Given the description of an element on the screen output the (x, y) to click on. 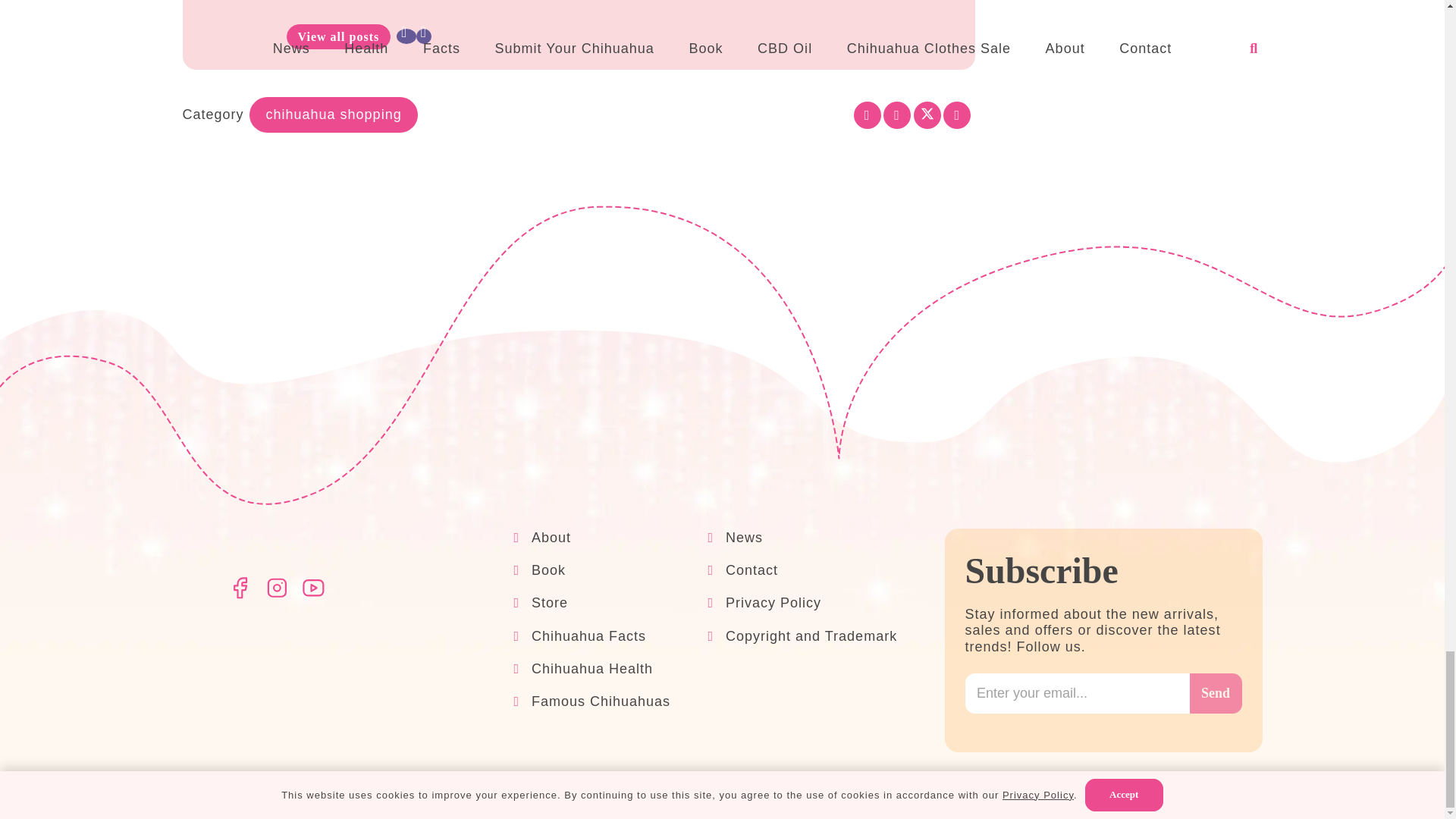
chihuahua shopping (332, 114)
View all posts (338, 36)
Send (1215, 693)
